Given the description of an element on the screen output the (x, y) to click on. 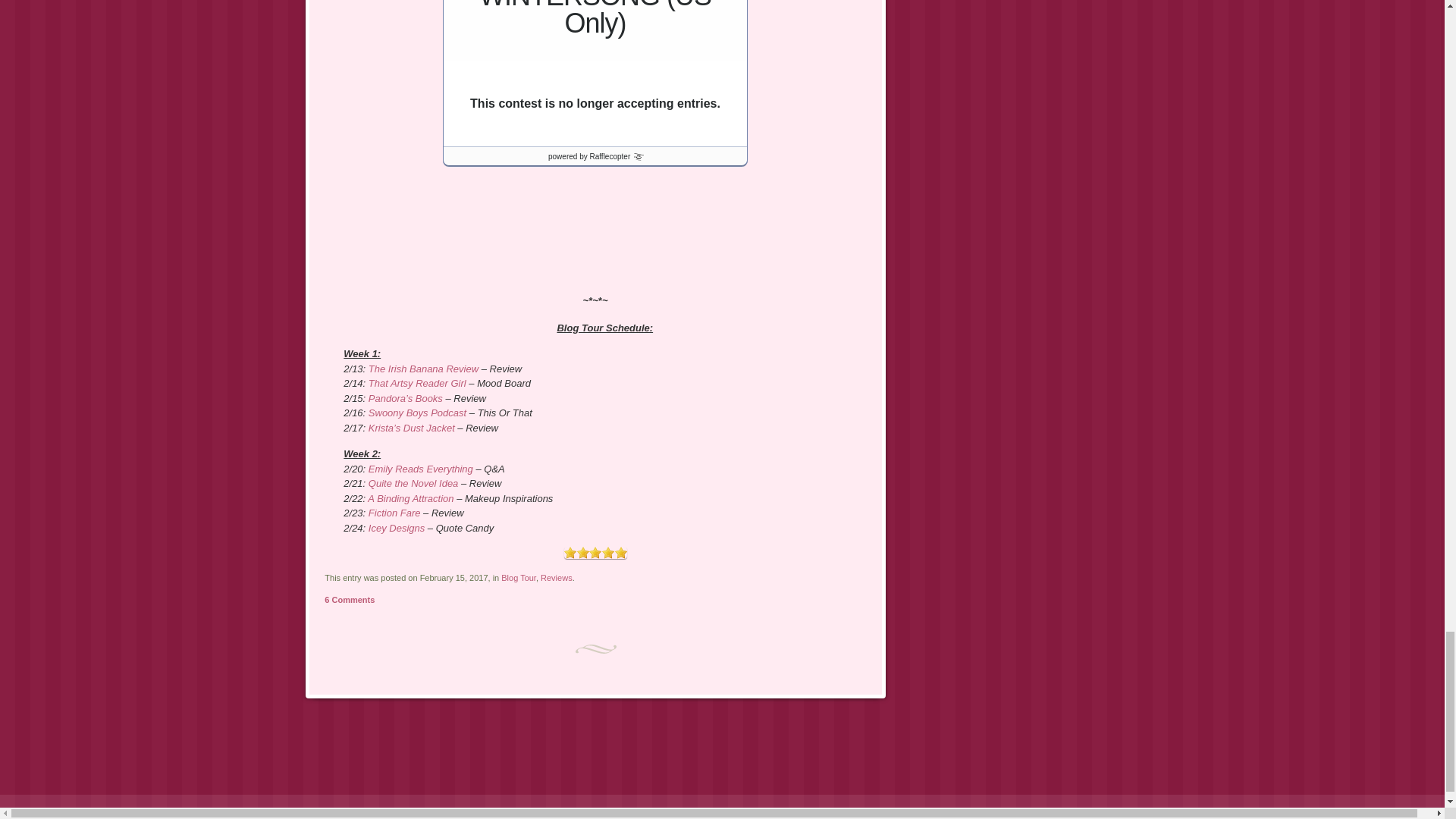
Semantic Personal Publishing Platform (108, 810)
